Given the description of an element on the screen output the (x, y) to click on. 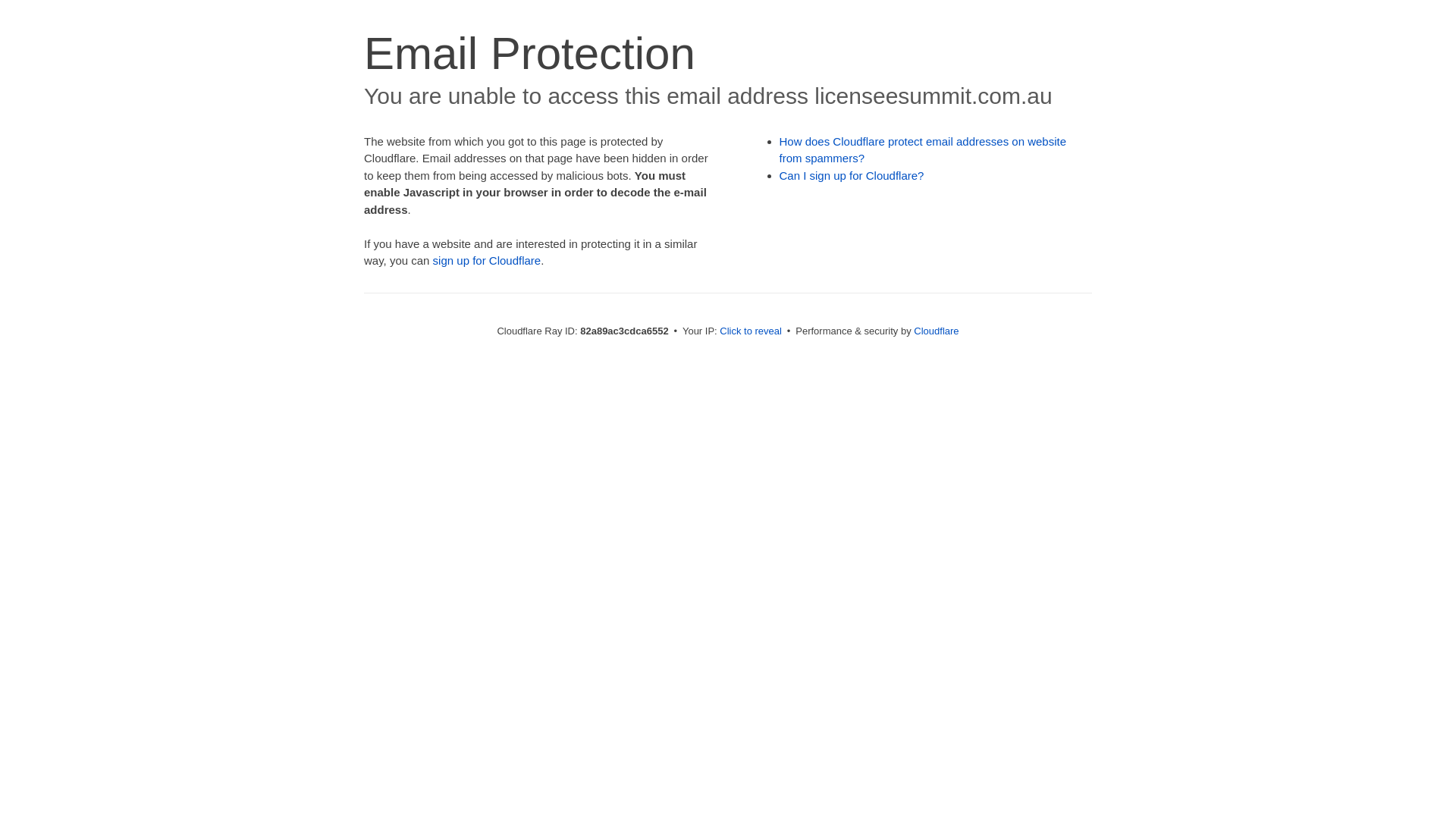
Can I sign up for Cloudflare? Element type: text (851, 175)
Cloudflare Element type: text (935, 330)
sign up for Cloudflare Element type: text (487, 260)
Click to reveal Element type: text (750, 330)
